Given the description of an element on the screen output the (x, y) to click on. 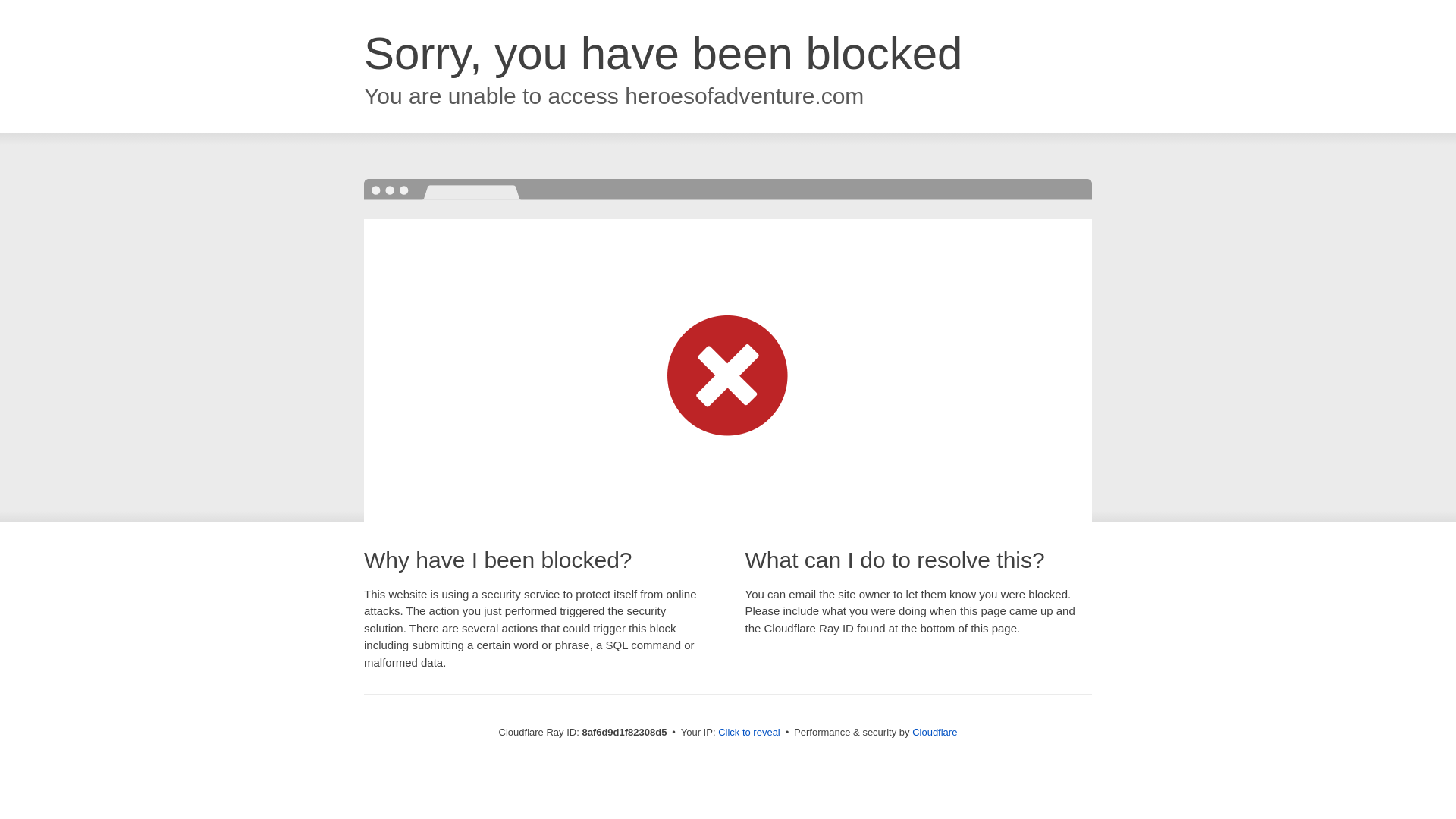
Click to reveal (748, 732)
Cloudflare (934, 731)
